Given the description of an element on the screen output the (x, y) to click on. 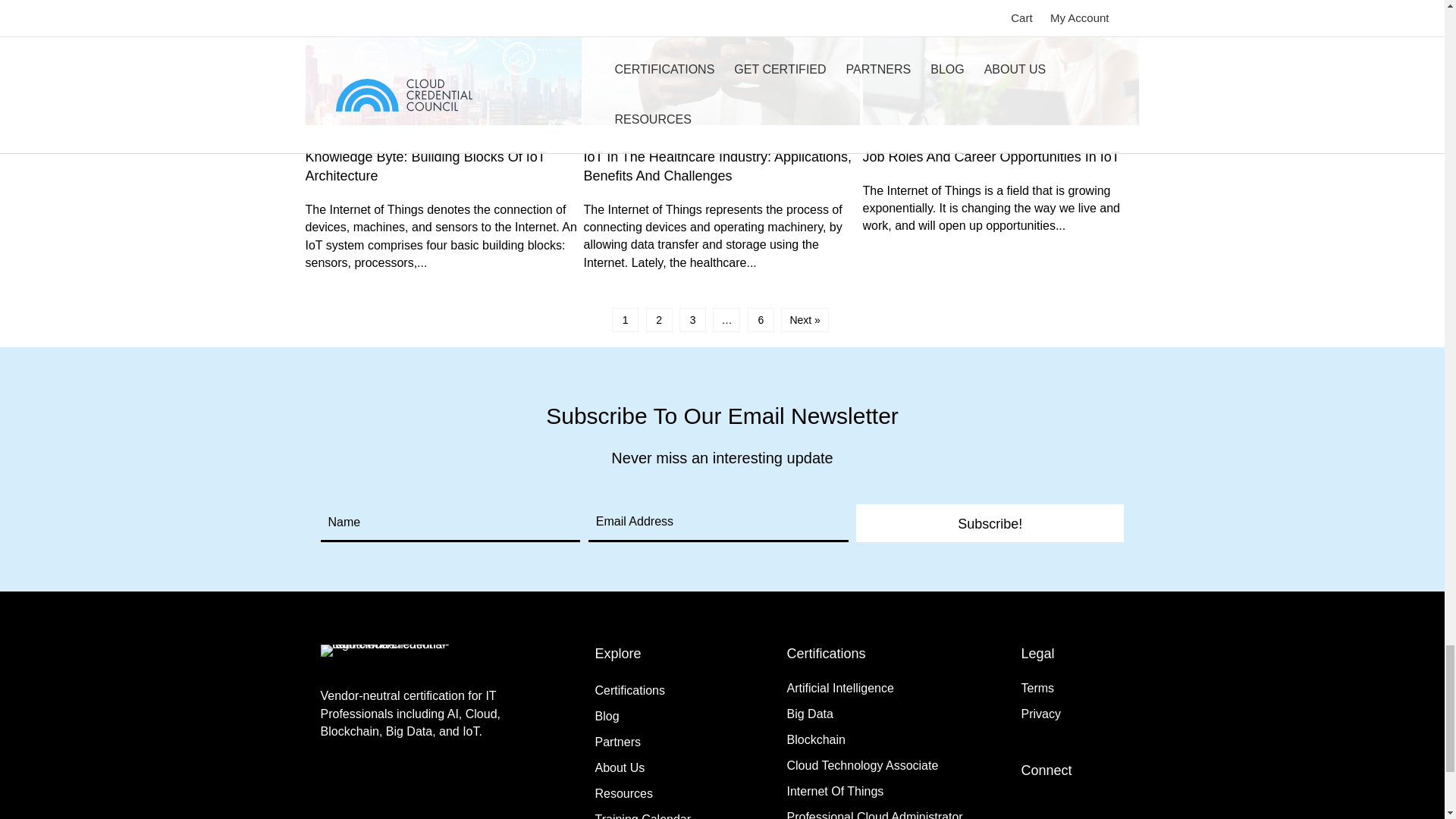
Knowledge byte: Building Blocks of IoT Architecture (442, 147)
iot (442, 62)
